Given the description of an element on the screen output the (x, y) to click on. 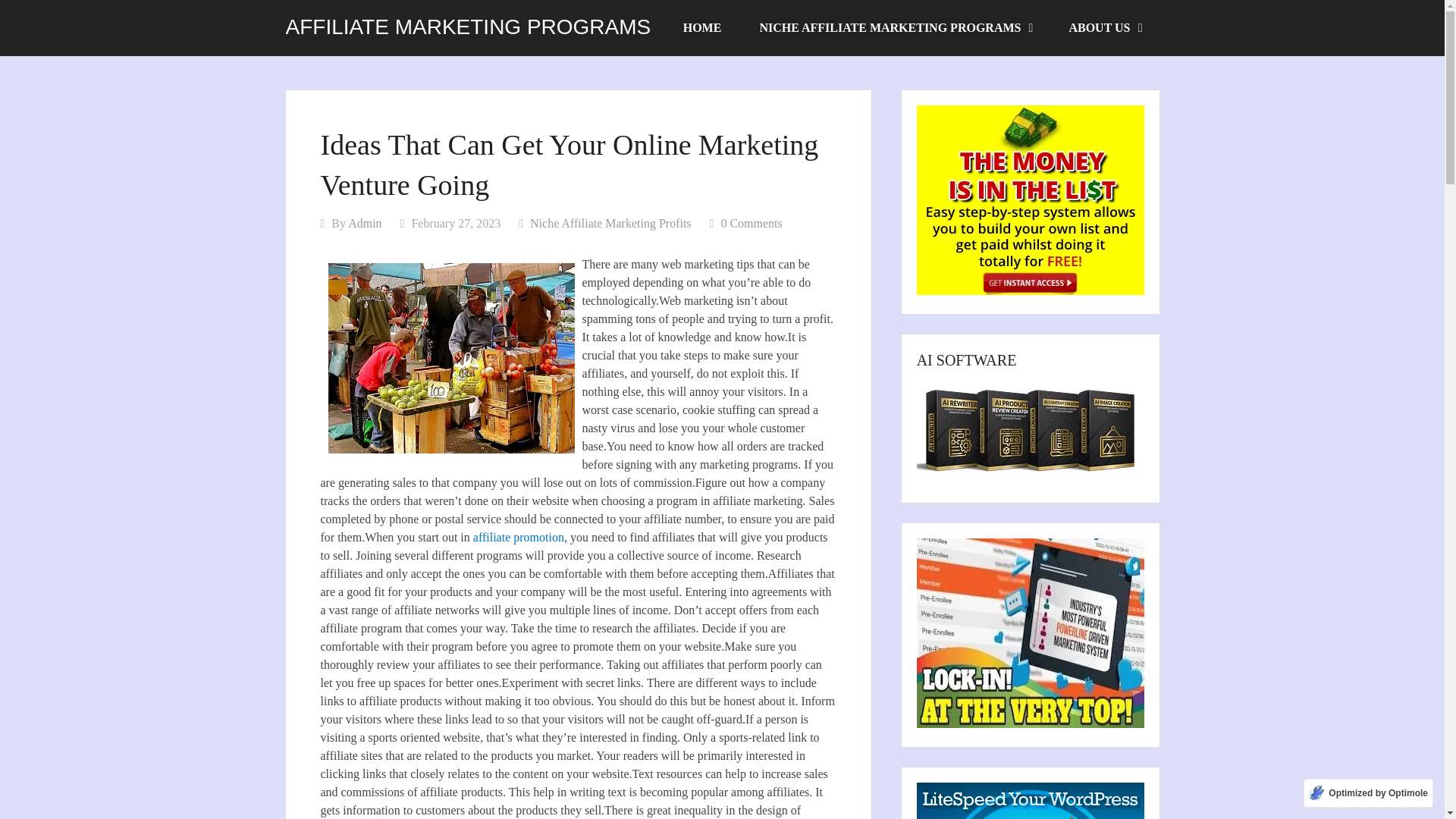
Admin (364, 223)
0 Comments (750, 223)
AFFILIATE MARKETING PROGRAMS (467, 26)
Posts by Admin (364, 223)
HOME (702, 28)
affiliate promotion (518, 536)
ABOUT US (1103, 28)
Ideas That Can Get Your Online Marketing Venture Going (450, 357)
Niche Affiliate Marketing Profits (610, 223)
NICHE AFFILIATE MARKETING PROGRAMS (894, 28)
